Given the description of an element on the screen output the (x, y) to click on. 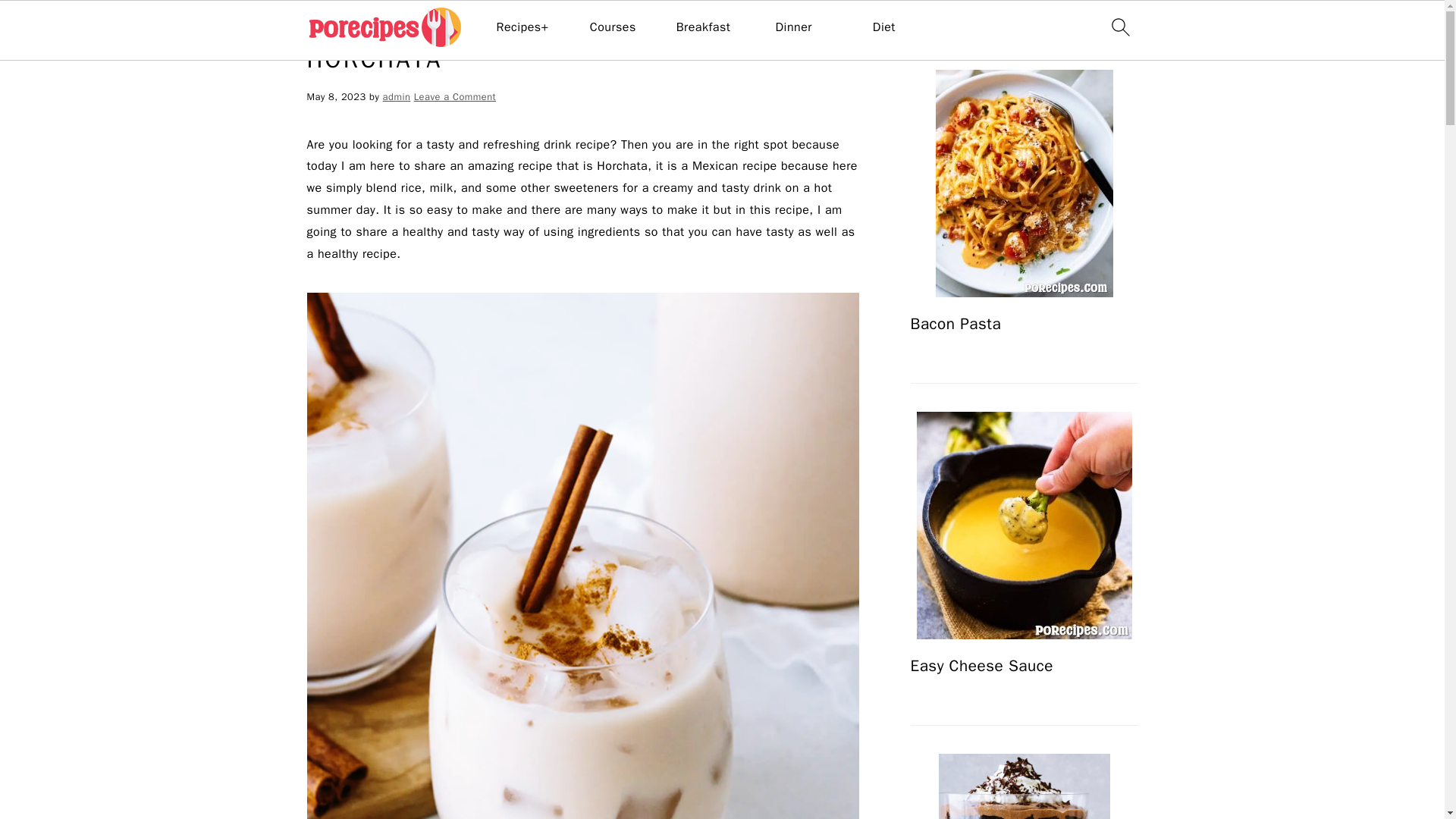
Easy Cheese Sauce (1023, 525)
Breakfast (703, 27)
Bacon Pasta (1023, 183)
Dinner (794, 27)
Recipes (361, 23)
Brownie Trifle (1023, 786)
Courses (612, 27)
Home (319, 23)
search icon (1119, 26)
